Given the description of an element on the screen output the (x, y) to click on. 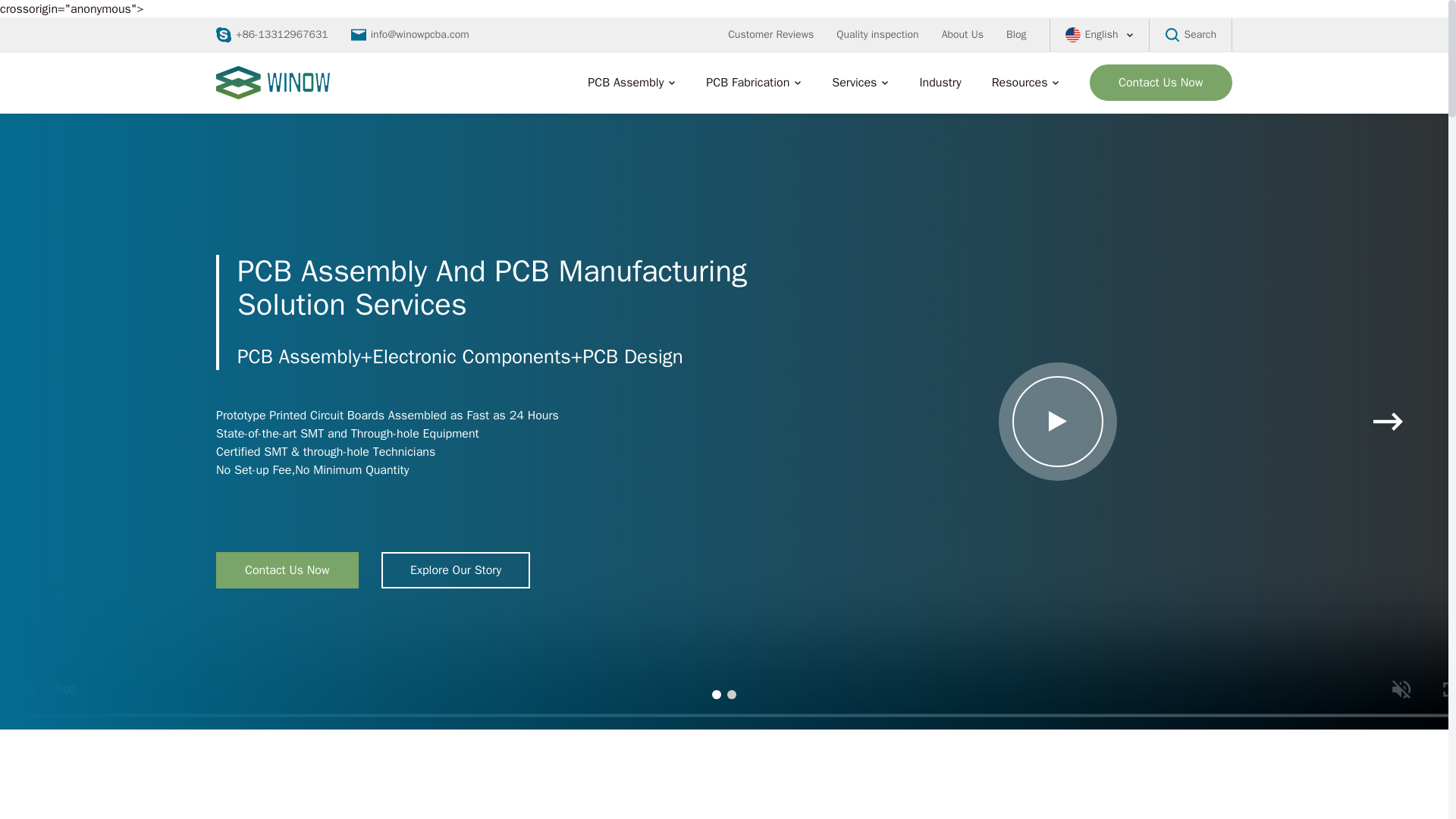
About Us (963, 30)
Contact Us Now (1160, 82)
PCB Fabrication (747, 82)
Resources (1019, 82)
Customer Reviews (770, 25)
Quality inspection (876, 28)
PCB Assembly (625, 81)
Blog (1016, 31)
